Given the description of an element on the screen output the (x, y) to click on. 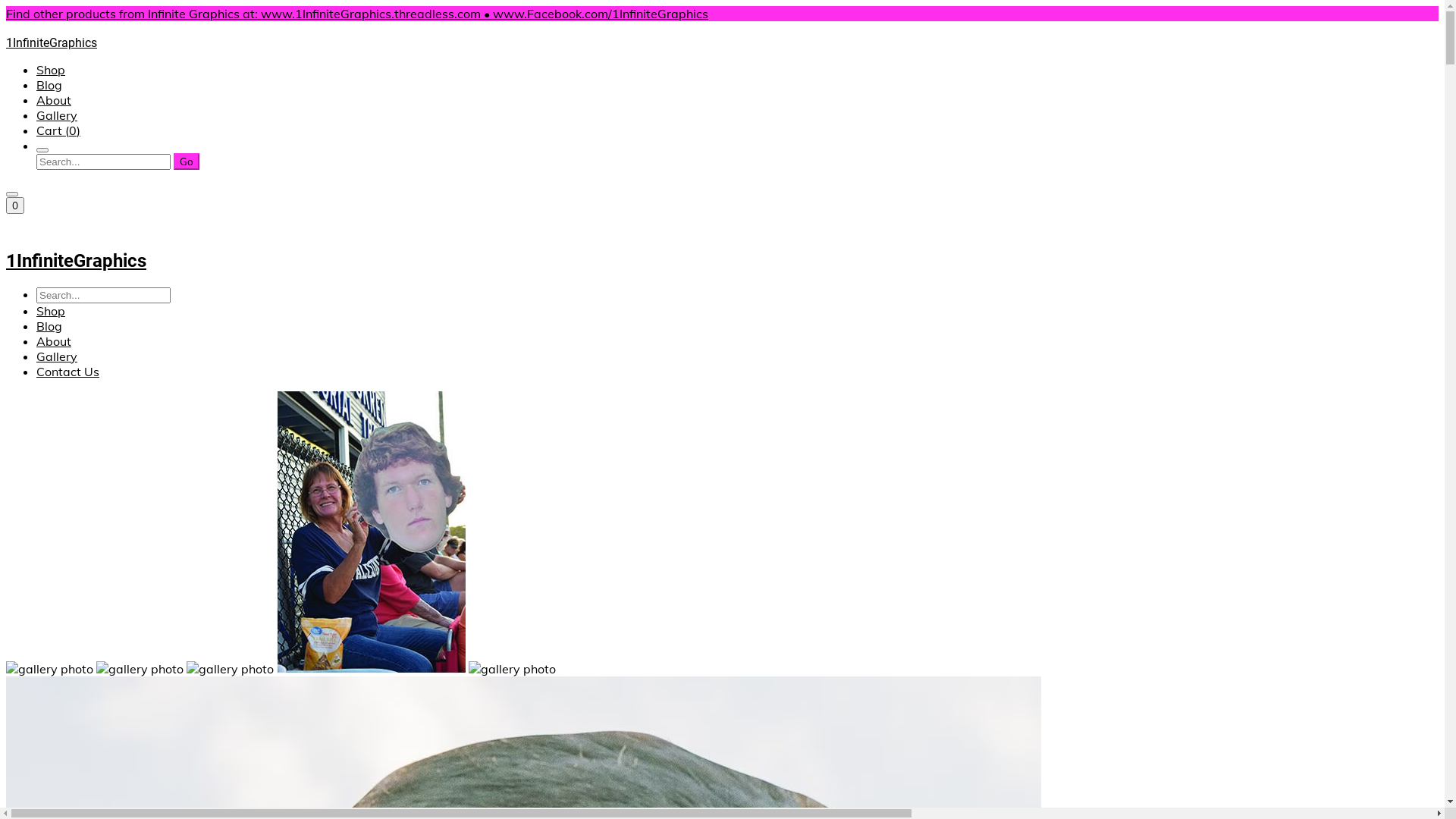
1InfiniteGraphics Element type: text (722, 250)
About Element type: text (53, 340)
0 Element type: text (15, 205)
Blog Element type: text (49, 325)
Shop Element type: text (50, 69)
Blog Element type: text (49, 84)
Shop Element type: text (50, 310)
About Element type: text (53, 99)
Gallery Element type: text (56, 356)
Cart (0) Element type: text (58, 130)
1InfiniteGraphics Element type: text (722, 35)
Gallery Element type: text (56, 114)
Contact Us Element type: text (67, 371)
Go Element type: text (186, 161)
